Given the description of an element on the screen output the (x, y) to click on. 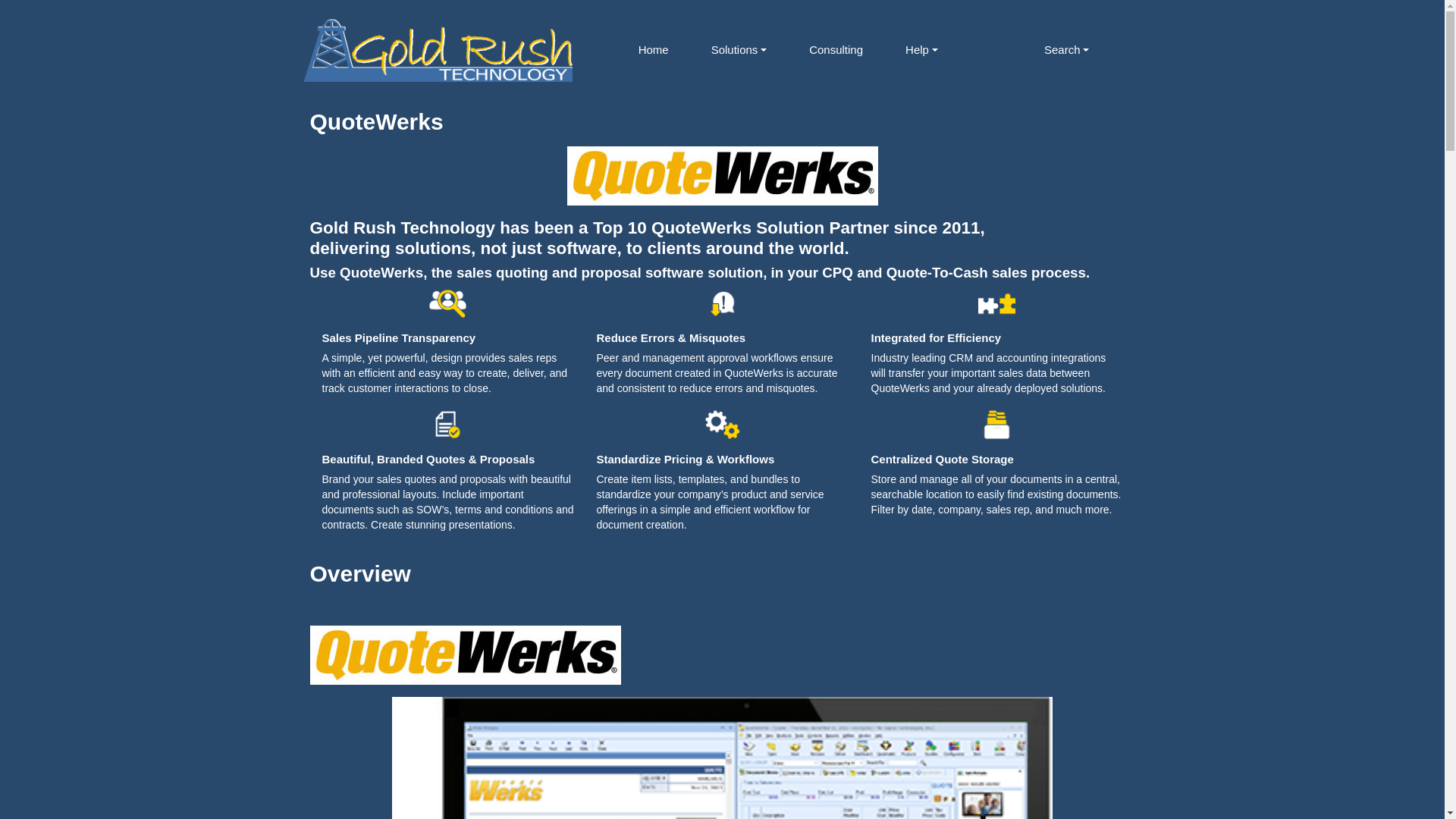
Search Element type: text (1066, 50)
Click here to find out more... Element type: hover (722, 175)
Home Element type: text (653, 50)
Help Element type: text (921, 50)
Solutions Element type: text (739, 50)
Consulting Element type: text (836, 50)
